Given the description of an element on the screen output the (x, y) to click on. 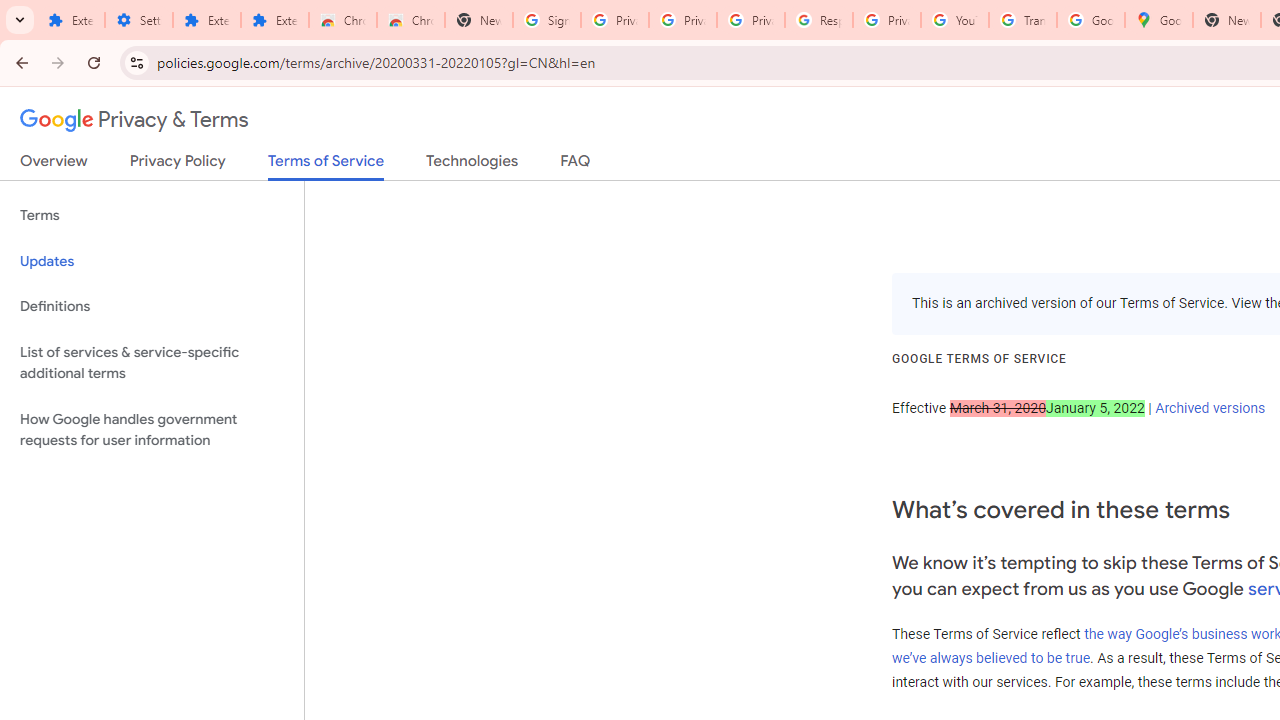
Extensions (70, 20)
New Tab (1226, 20)
Extensions (206, 20)
New Tab (479, 20)
Archived versions (1209, 407)
